Given the description of an element on the screen output the (x, y) to click on. 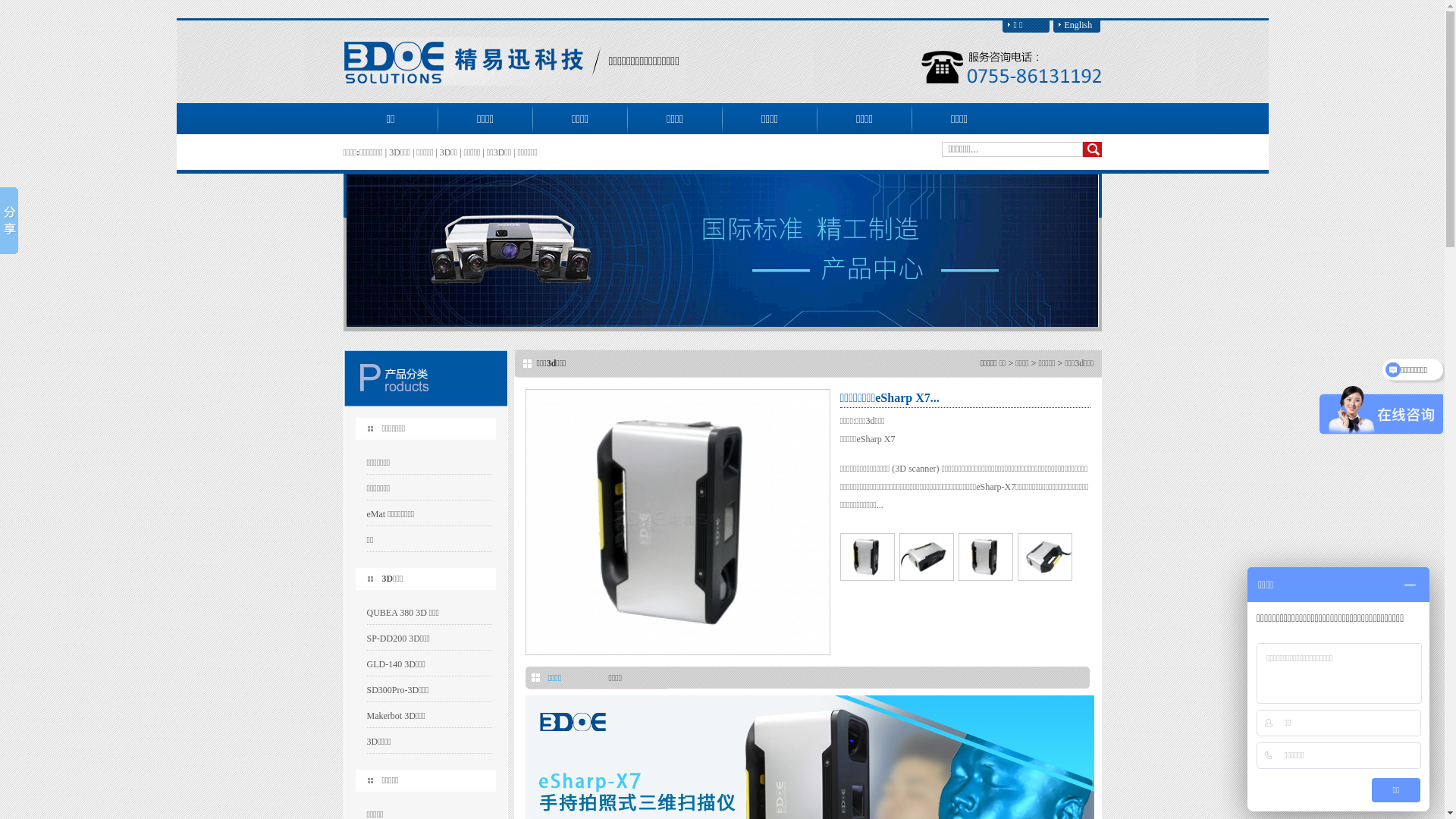
English Element type: text (1075, 25)
